Given the description of an element on the screen output the (x, y) to click on. 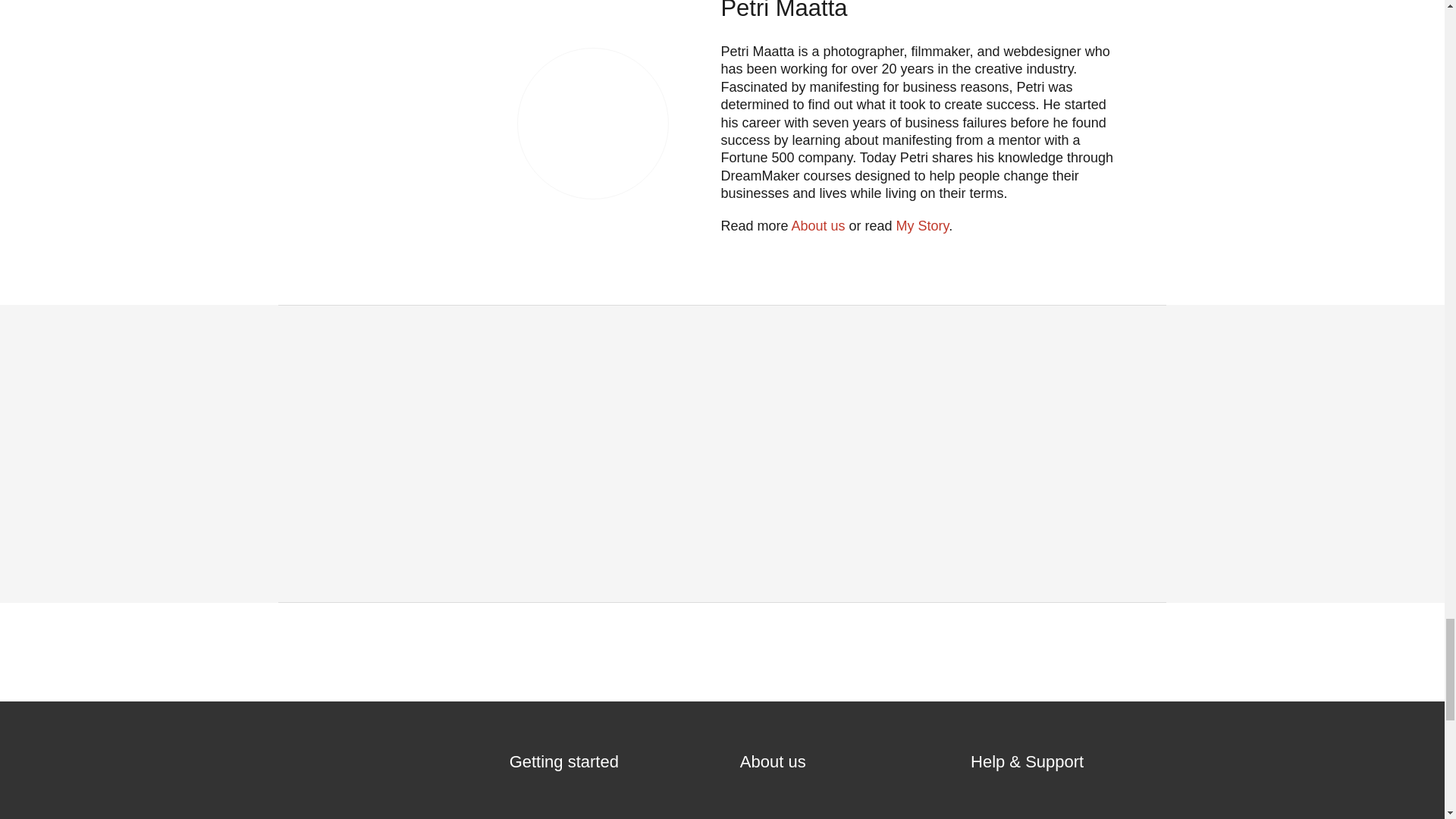
petri wow (593, 123)
About us (817, 225)
My Story (922, 225)
dreammaker manifesting loa brand footer (361, 780)
